Given the description of an element on the screen output the (x, y) to click on. 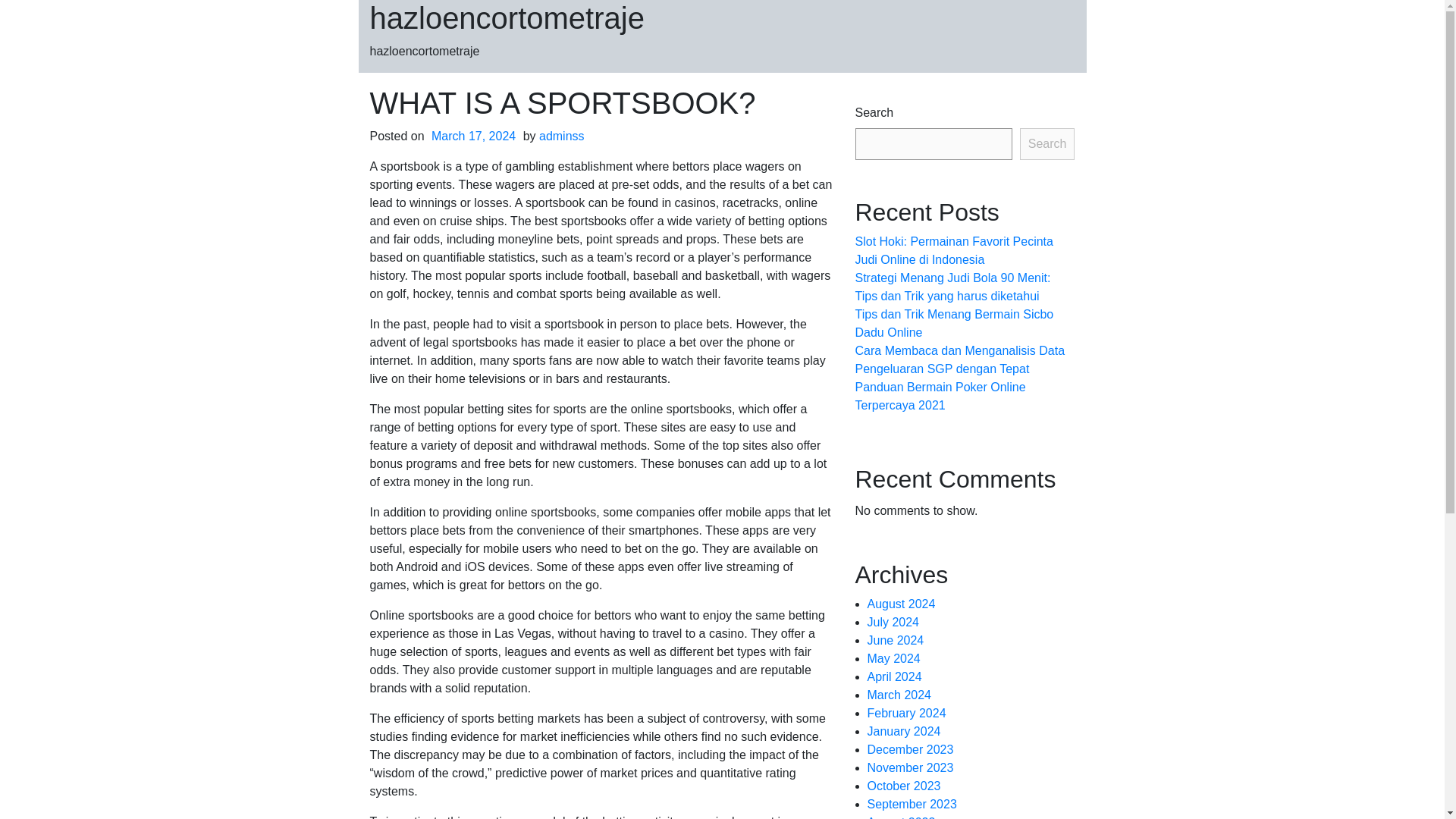
March 2024 (899, 694)
June 2024 (895, 640)
August 2023 (901, 817)
May 2024 (893, 658)
adminss (561, 135)
January 2024 (903, 730)
February 2024 (906, 712)
March 17, 2024 (473, 135)
April 2024 (894, 676)
